Given the description of an element on the screen output the (x, y) to click on. 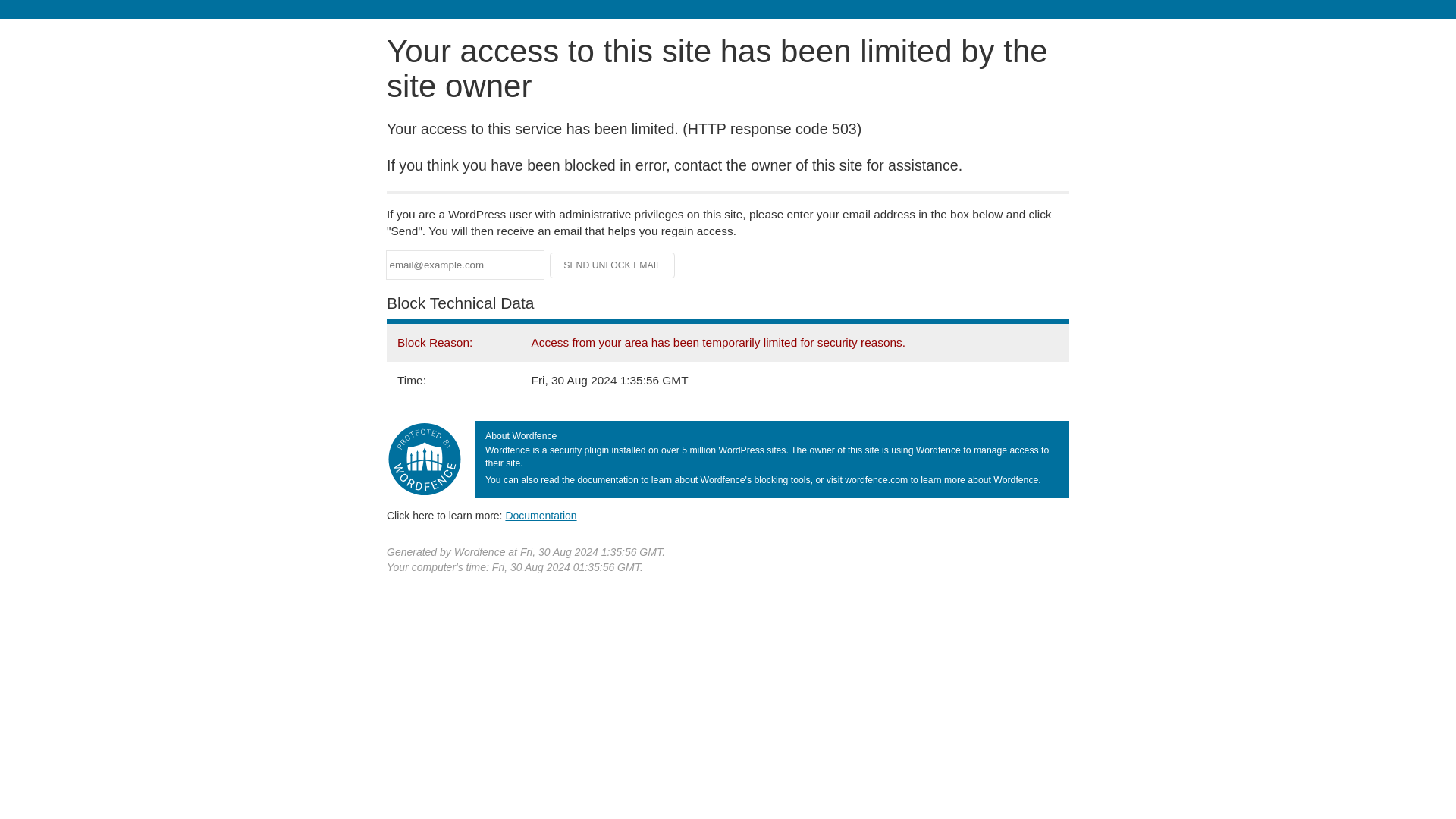
Send Unlock Email (612, 265)
Documentation (540, 515)
Send Unlock Email (612, 265)
